Given the description of an element on the screen output the (x, y) to click on. 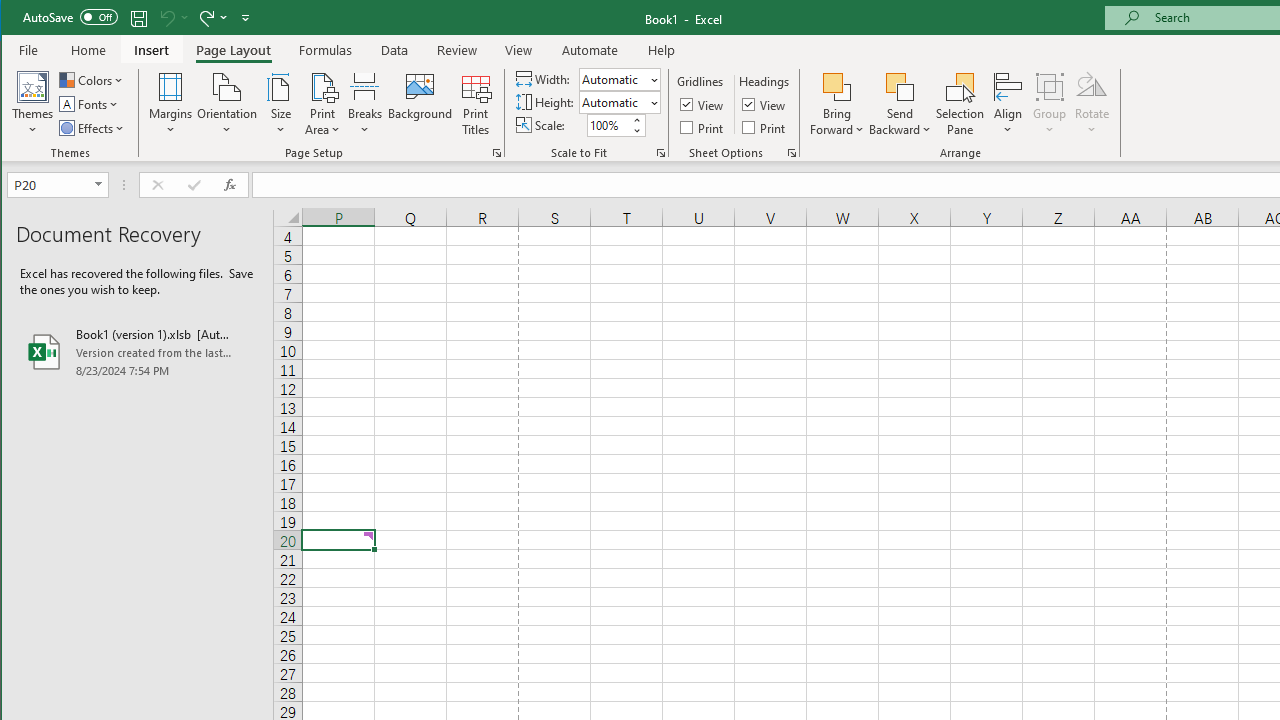
Rotate (1092, 104)
Bring Forward (836, 86)
Print Area (323, 104)
Send Backward (900, 86)
Themes (33, 104)
Margins (170, 104)
Width (612, 79)
Less (636, 130)
Align (1007, 104)
